Given the description of an element on the screen output the (x, y) to click on. 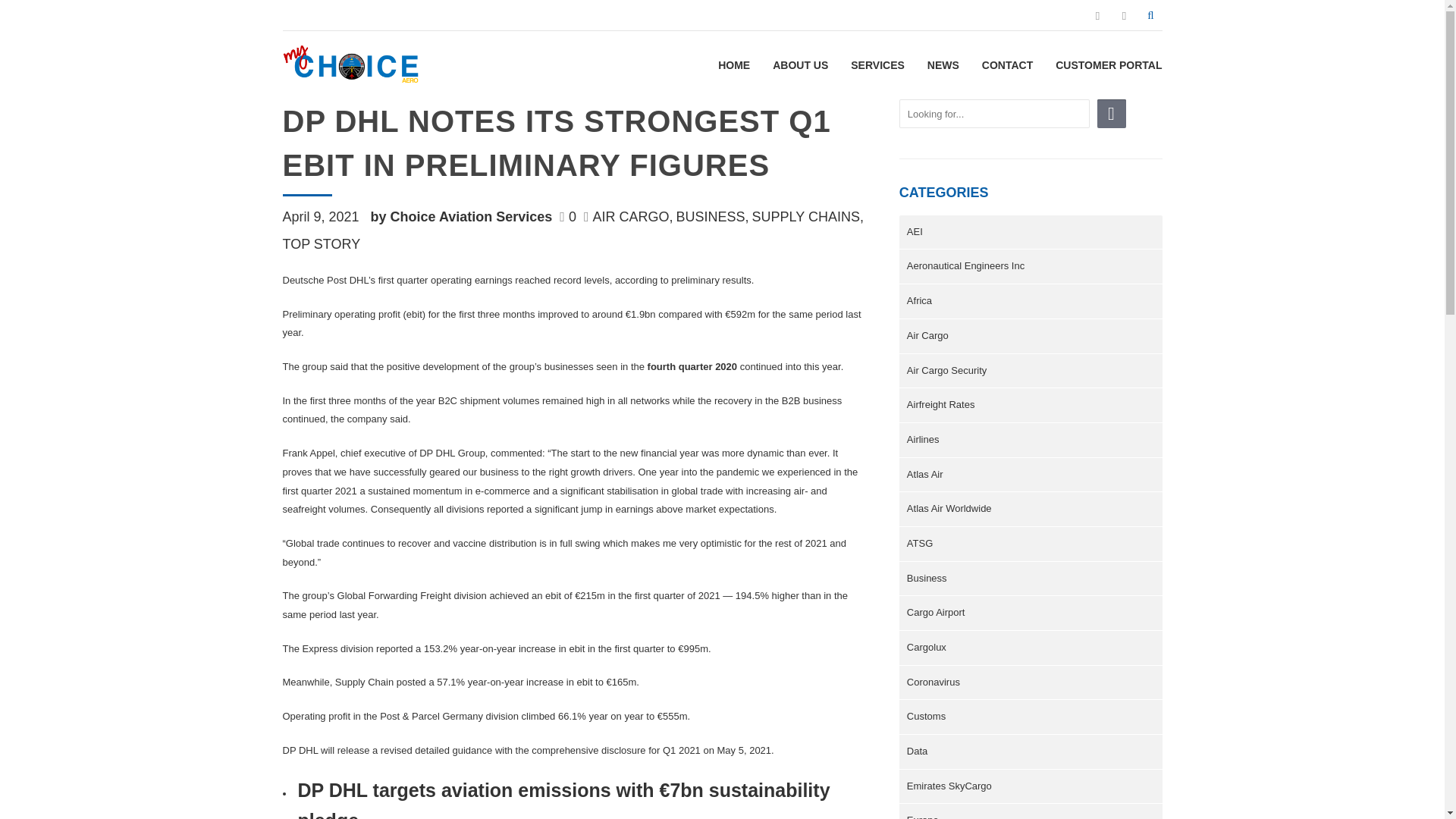
CUSTOMER PORTAL (1108, 64)
CONTACT (1006, 64)
SERVICES (877, 64)
by Choice Aviation Services (465, 216)
ABOUT US (800, 64)
AIR CARGO (634, 216)
0 (571, 216)
SUPPLY CHAINS (809, 216)
TOP STORY (320, 243)
BUSINESS (714, 216)
